Given the description of an element on the screen output the (x, y) to click on. 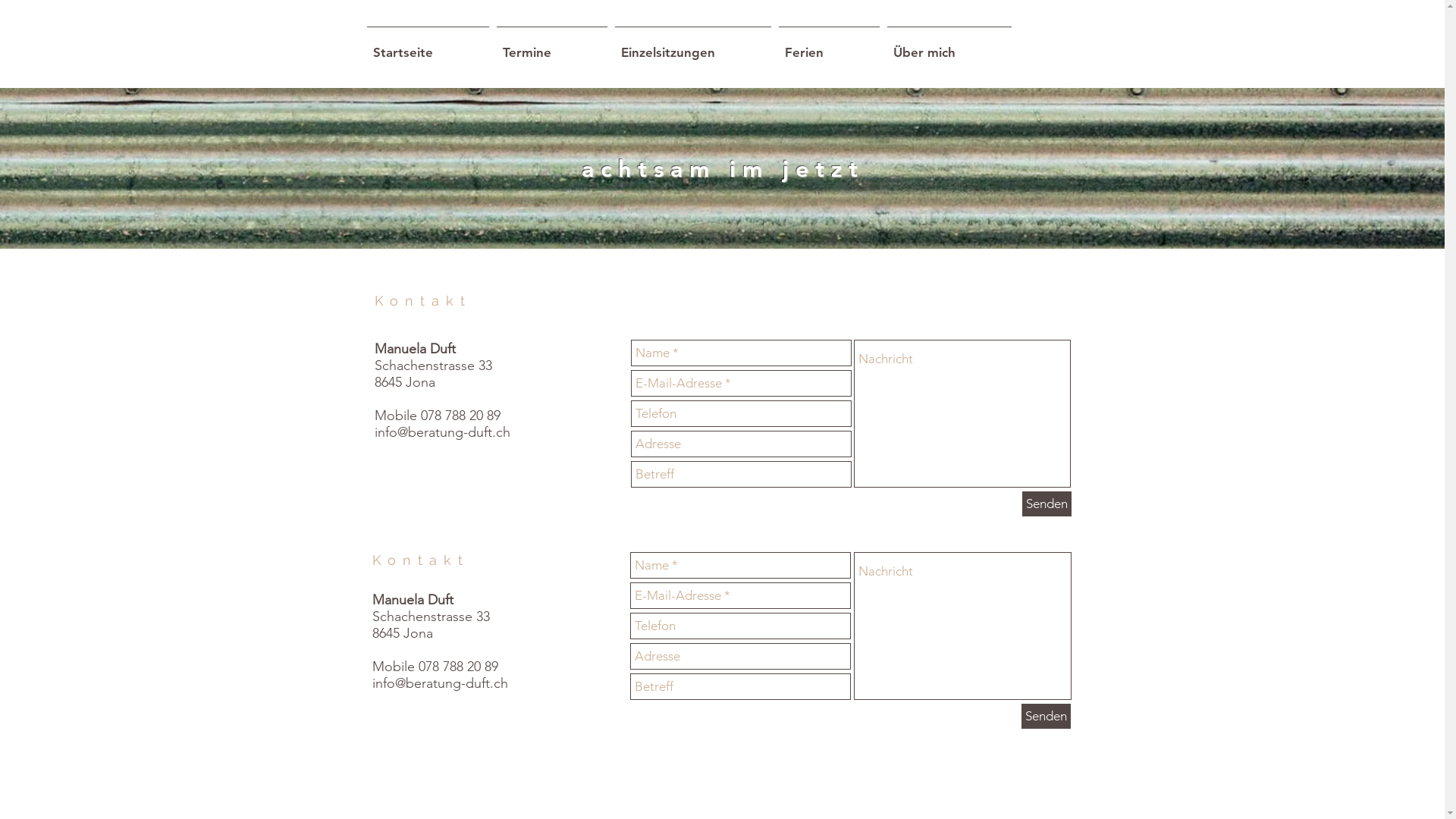
Senden Element type: text (1046, 503)
Termine Element type: text (551, 45)
info@beratung-duft.ch Element type: text (442, 431)
Ferien Element type: text (829, 45)
info@beratung-duft.ch Element type: text (439, 682)
Senden Element type: text (1045, 715)
Startseite Element type: text (427, 45)
Einzelsitzungen Element type: text (693, 45)
